Given the description of an element on the screen output the (x, y) to click on. 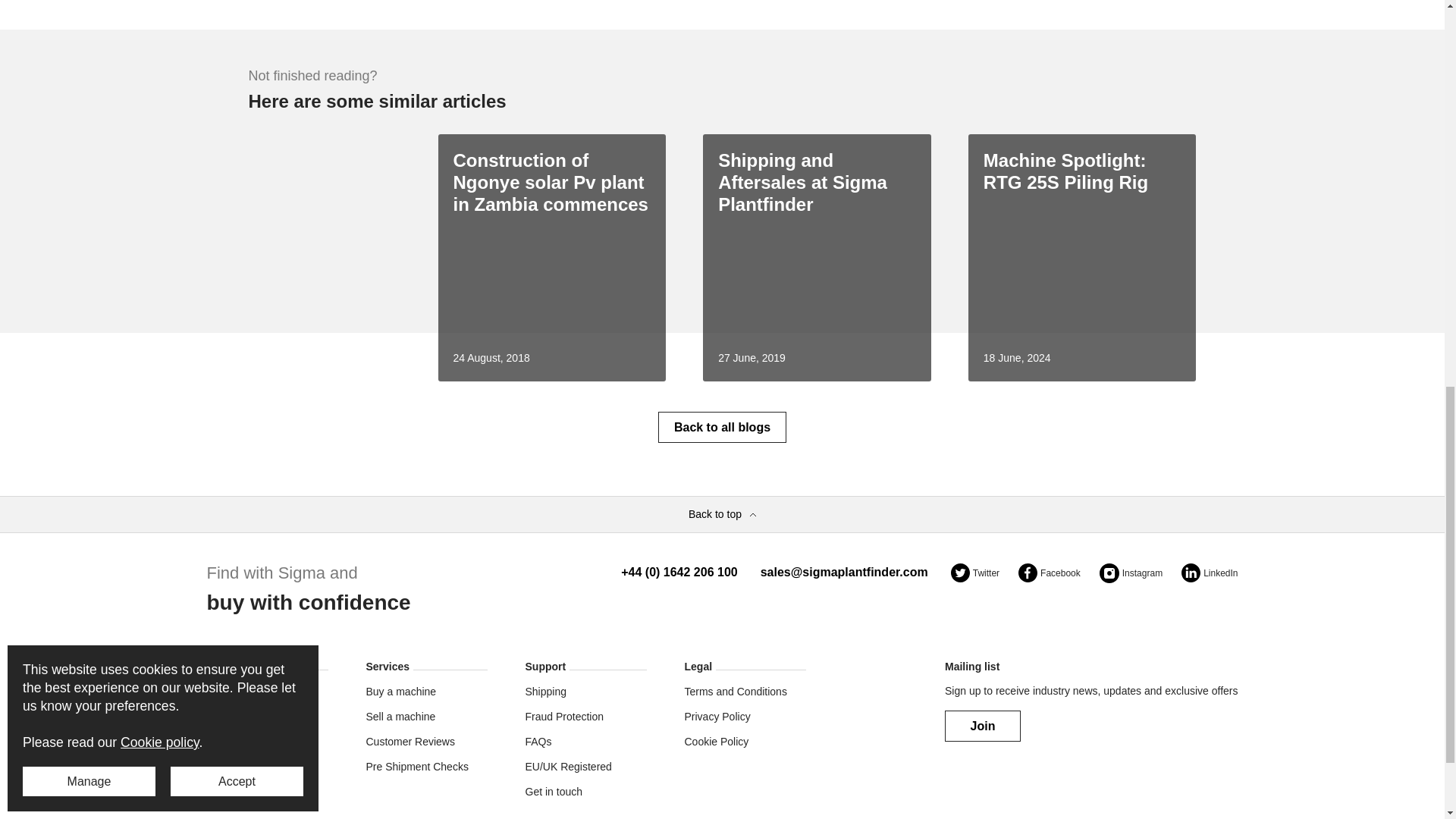
Back to top (721, 513)
